Given the description of an element on the screen output the (x, y) to click on. 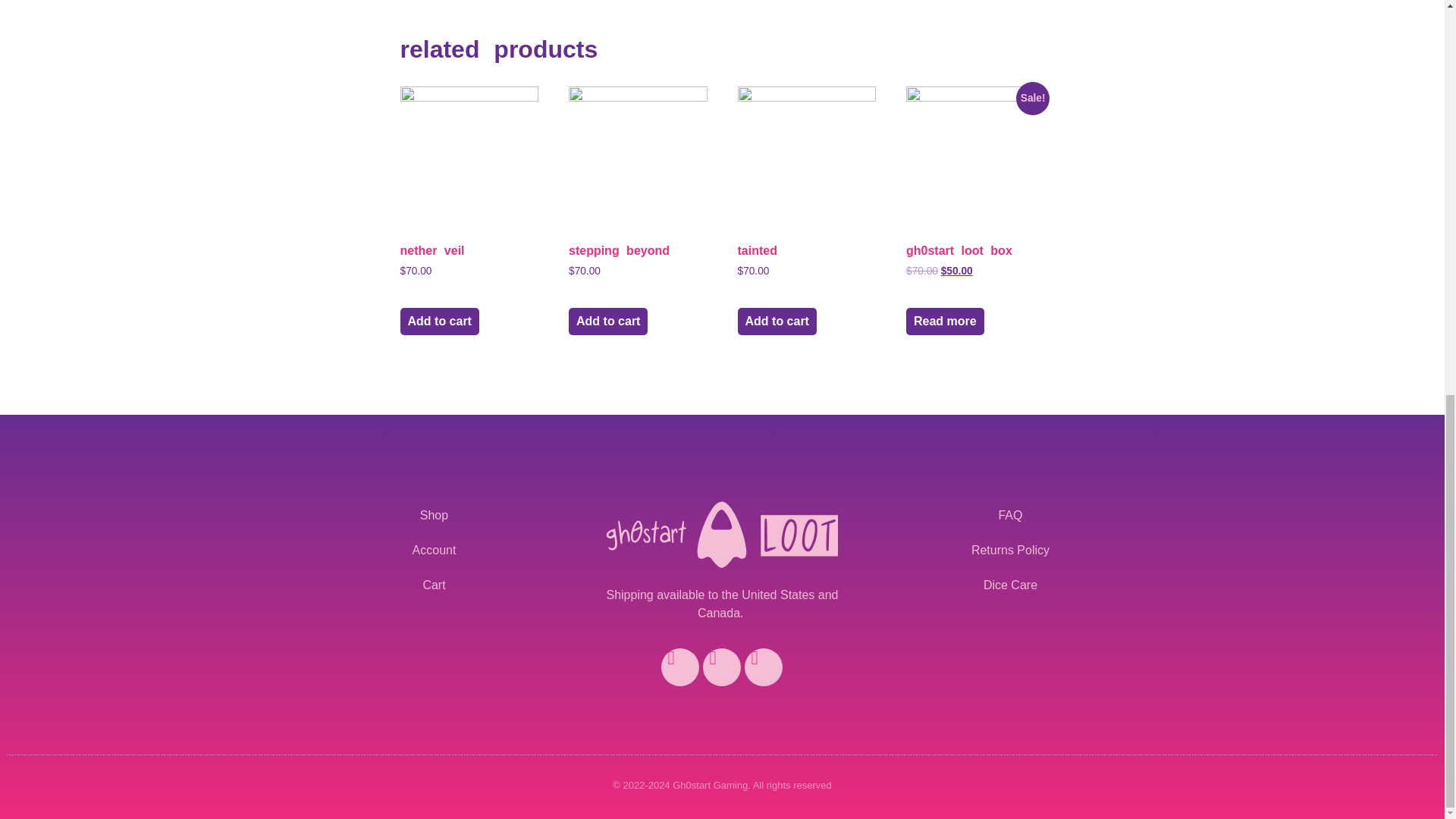
Add to cart (439, 320)
